Given the description of an element on the screen output the (x, y) to click on. 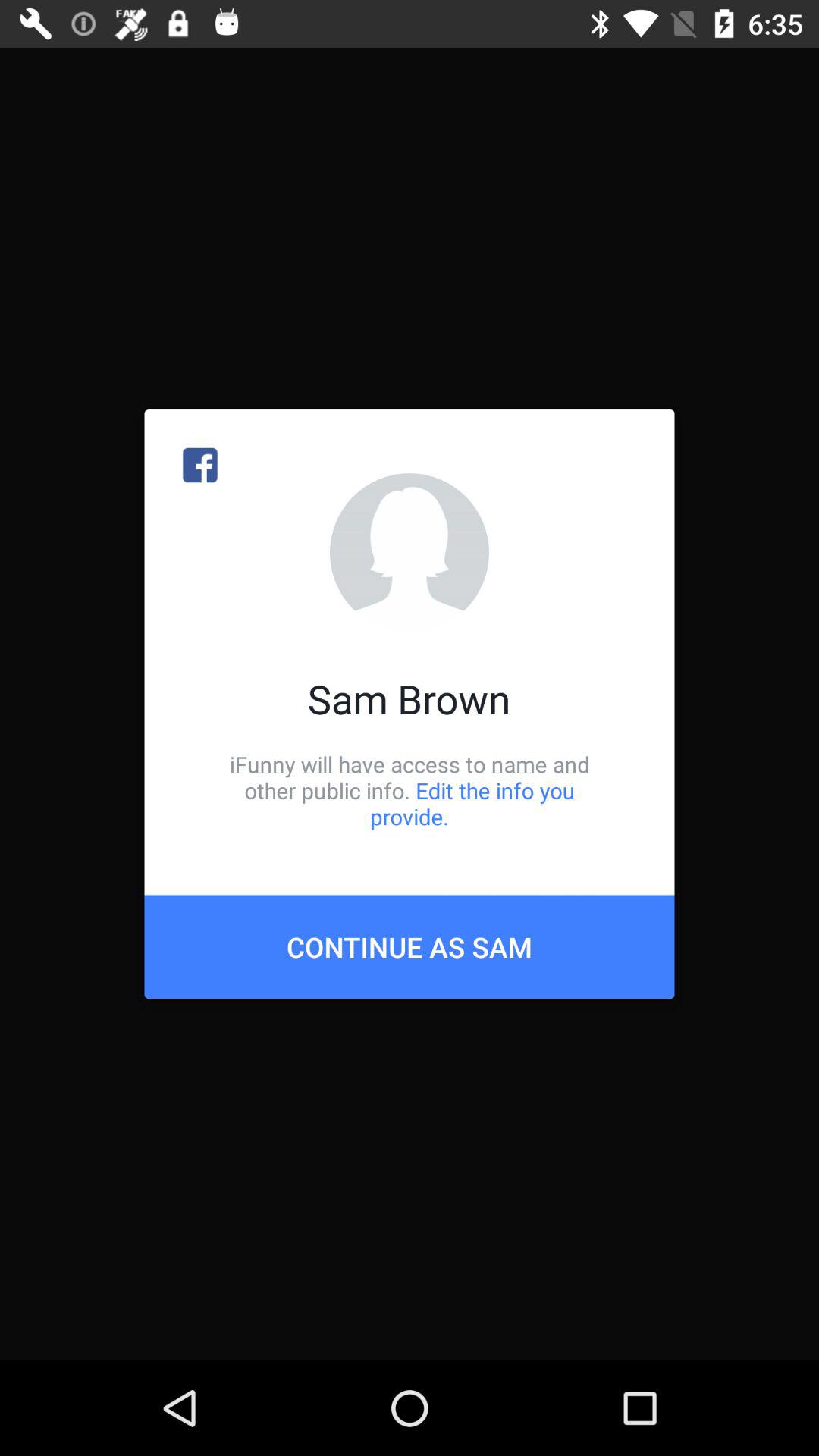
swipe to the ifunny will have (409, 790)
